Given the description of an element on the screen output the (x, y) to click on. 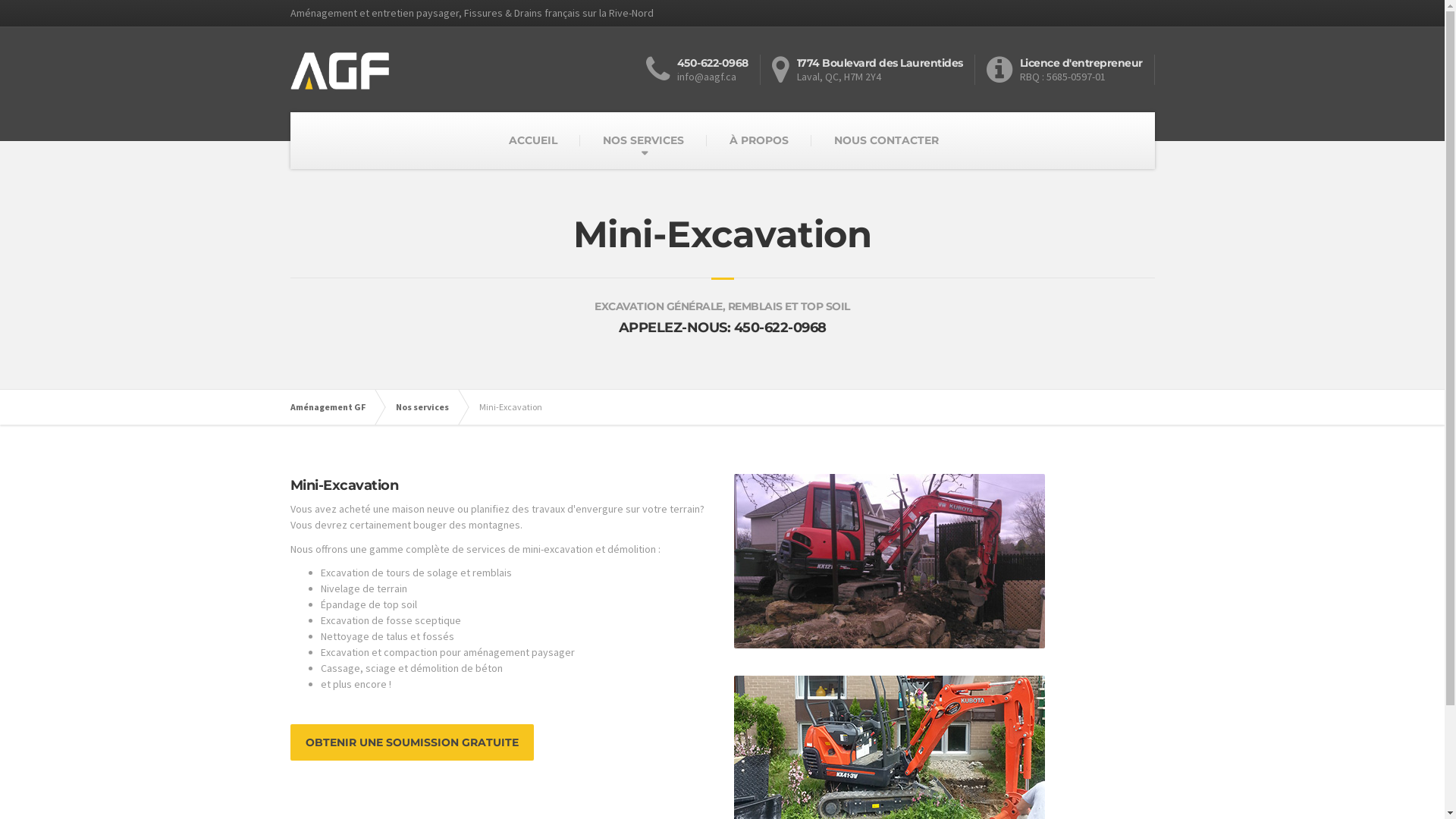
Nos services Element type: text (429, 406)
NOS SERVICES Element type: text (643, 140)
ACCUEIL Element type: text (533, 140)
450-622-0968
info@aagf.ca Element type: text (703, 69)
1774 Boulevard des Laurentides
Laval, QC, H7M 2Y4 Element type: text (873, 69)
OBTENIR UNE SOUMISSION GRATUITE Element type: text (411, 742)
NOUS CONTACTER Element type: text (886, 140)
